Given the description of an element on the screen output the (x, y) to click on. 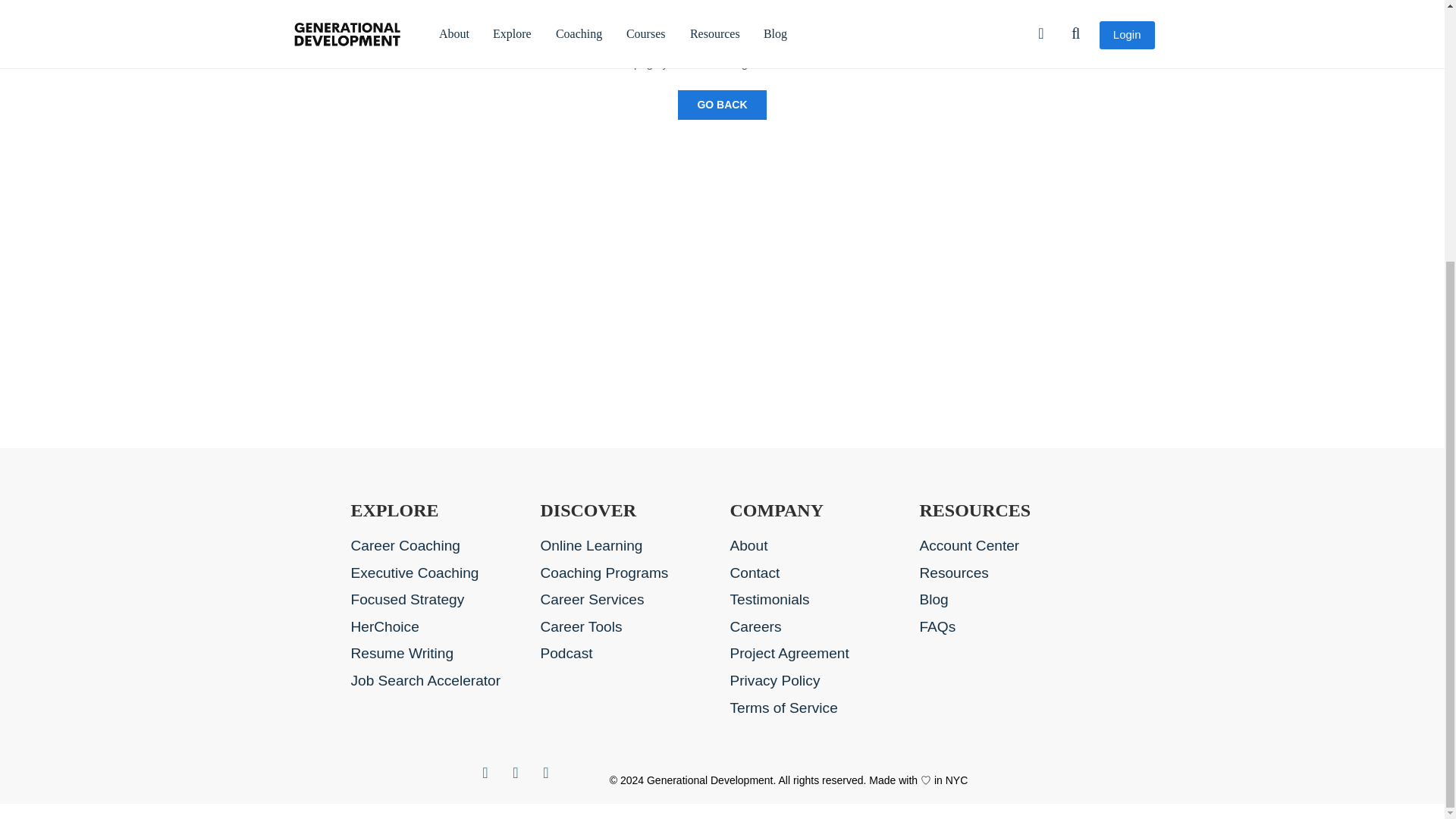
About (816, 545)
Career Coaching (437, 545)
Online Learning (627, 545)
Coaching Programs (627, 573)
Project Agreement (816, 653)
Job Search Accelerator (437, 680)
Resume Writing (437, 653)
Focused Strategy (437, 599)
Testimonials (816, 599)
